Given the description of an element on the screen output the (x, y) to click on. 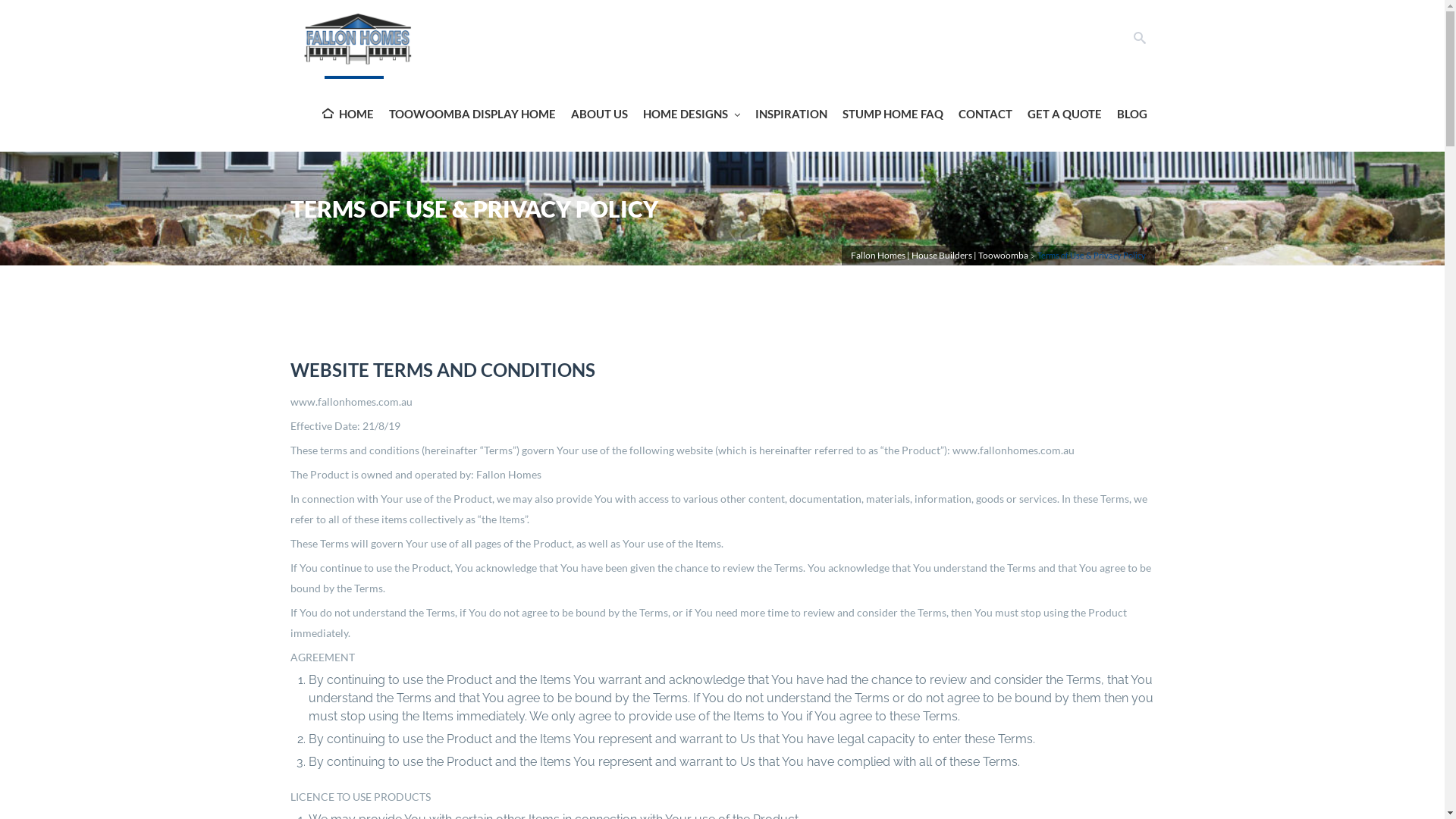
HOME Element type: text (346, 113)
TOOWOOMBA DISPLAY HOME Element type: text (471, 113)
ABOUT US Element type: text (598, 113)
CONTACT Element type: text (984, 113)
INSPIRATION Element type: text (790, 113)
GET A QUOTE Element type: text (1063, 113)
Fallon Homes | House Builders | Toowoomba Element type: text (939, 254)
BLOG Element type: text (1131, 113)
HOME DESIGNS Element type: text (691, 113)
STUMP HOME FAQ Element type: text (892, 113)
